Given the description of an element on the screen output the (x, y) to click on. 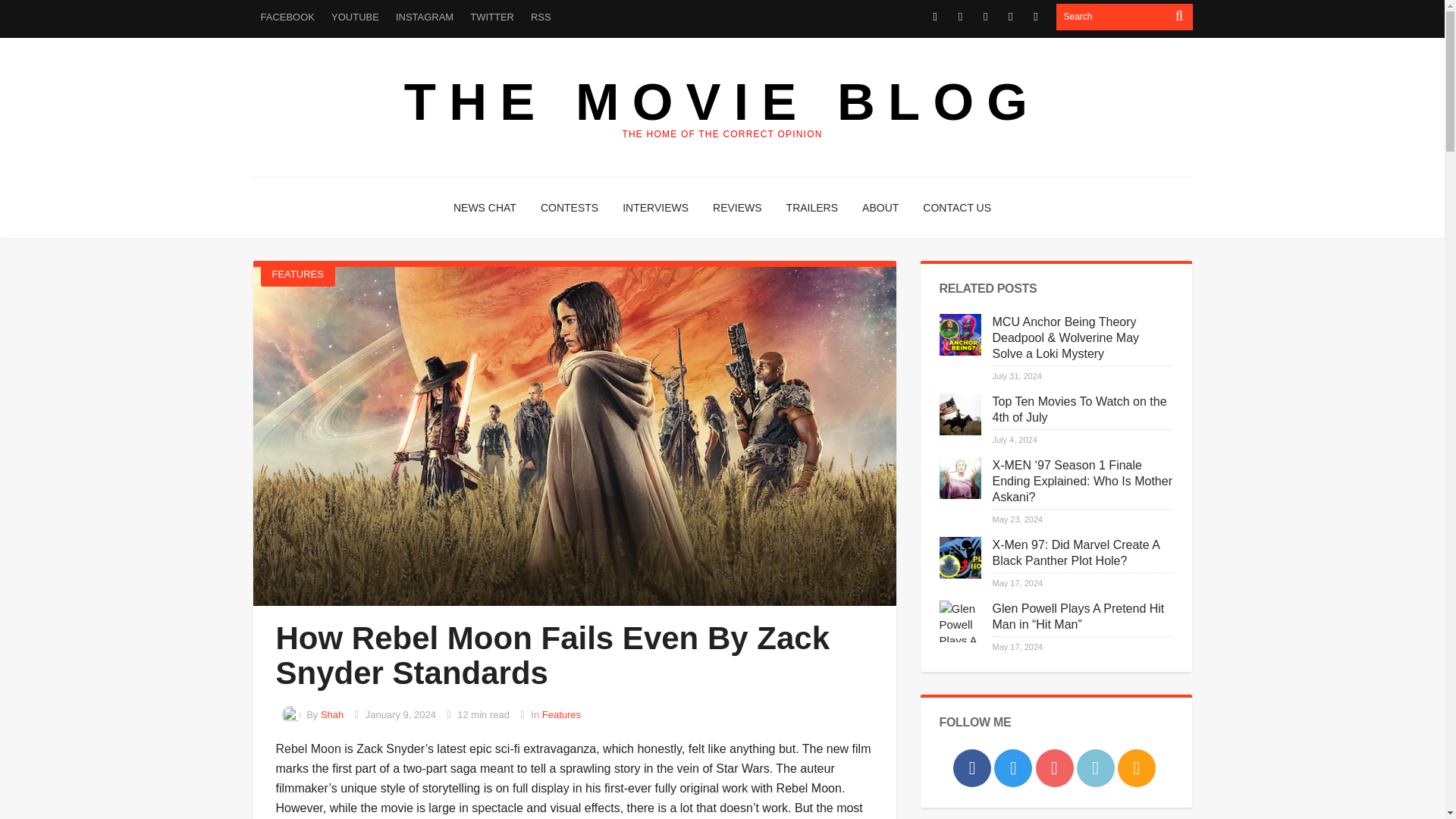
Facebook (935, 16)
Youtube (984, 16)
TWITTER (491, 17)
Twitter (960, 16)
Reddit (1010, 16)
RSS (540, 17)
CONTESTS (568, 207)
THE MOVIE BLOG (722, 101)
Search (1111, 17)
INSTAGRAM (424, 17)
Rss (1035, 16)
NEWS CHAT (484, 207)
Search (1111, 17)
FACEBOOK (287, 17)
YOUTUBE (355, 17)
